Given the description of an element on the screen output the (x, y) to click on. 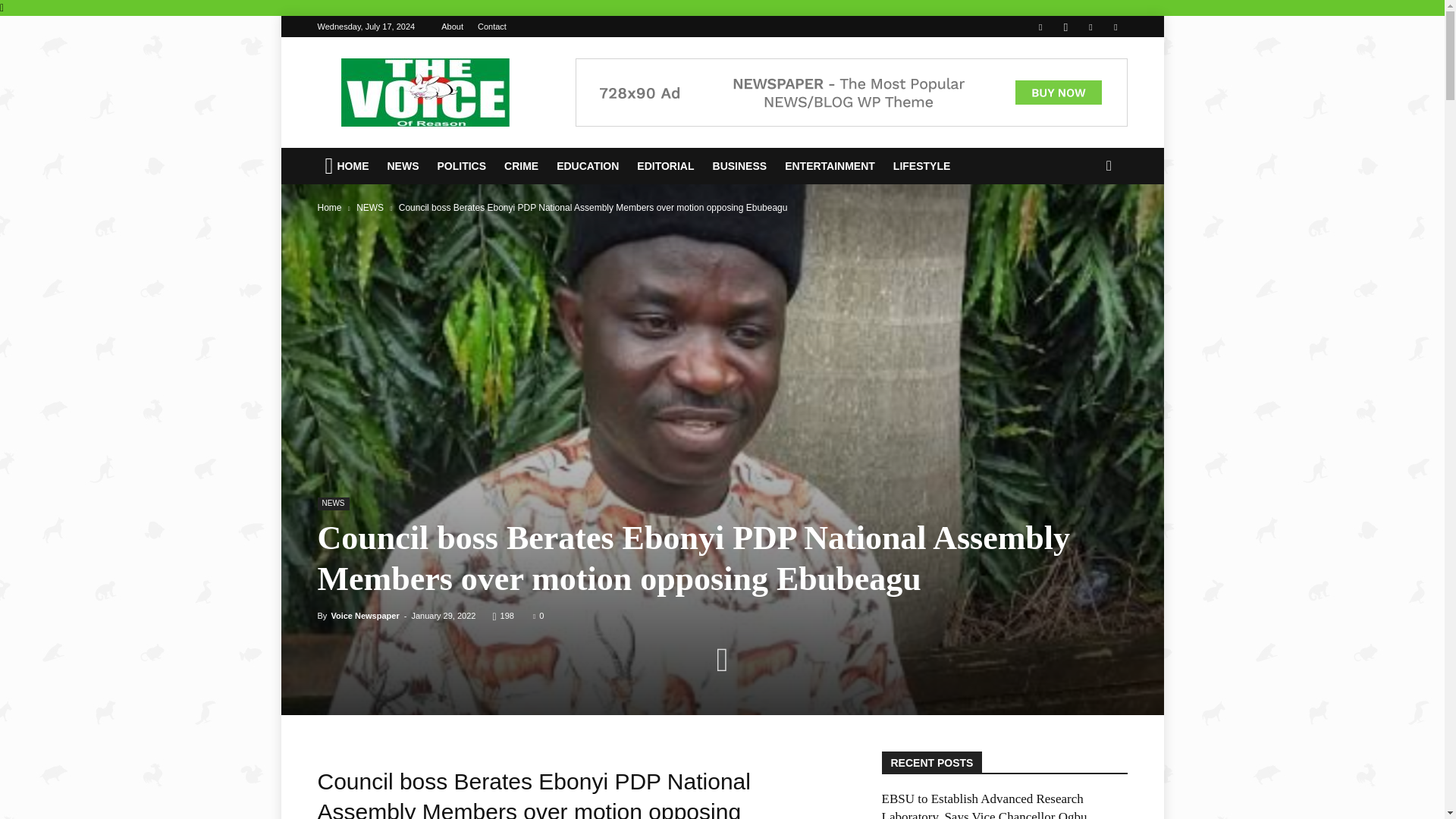
ENTERTAINMENT (831, 166)
Contact (491, 26)
Youtube (1114, 25)
Instagram (1065, 25)
LIFESTYLE (922, 166)
HOME (347, 166)
NEWS (403, 166)
Search (1085, 226)
Twitter (1090, 25)
Home (328, 207)
BUSINESS (740, 166)
EDITORIAL (666, 166)
CRIME (522, 166)
